Given the description of an element on the screen output the (x, y) to click on. 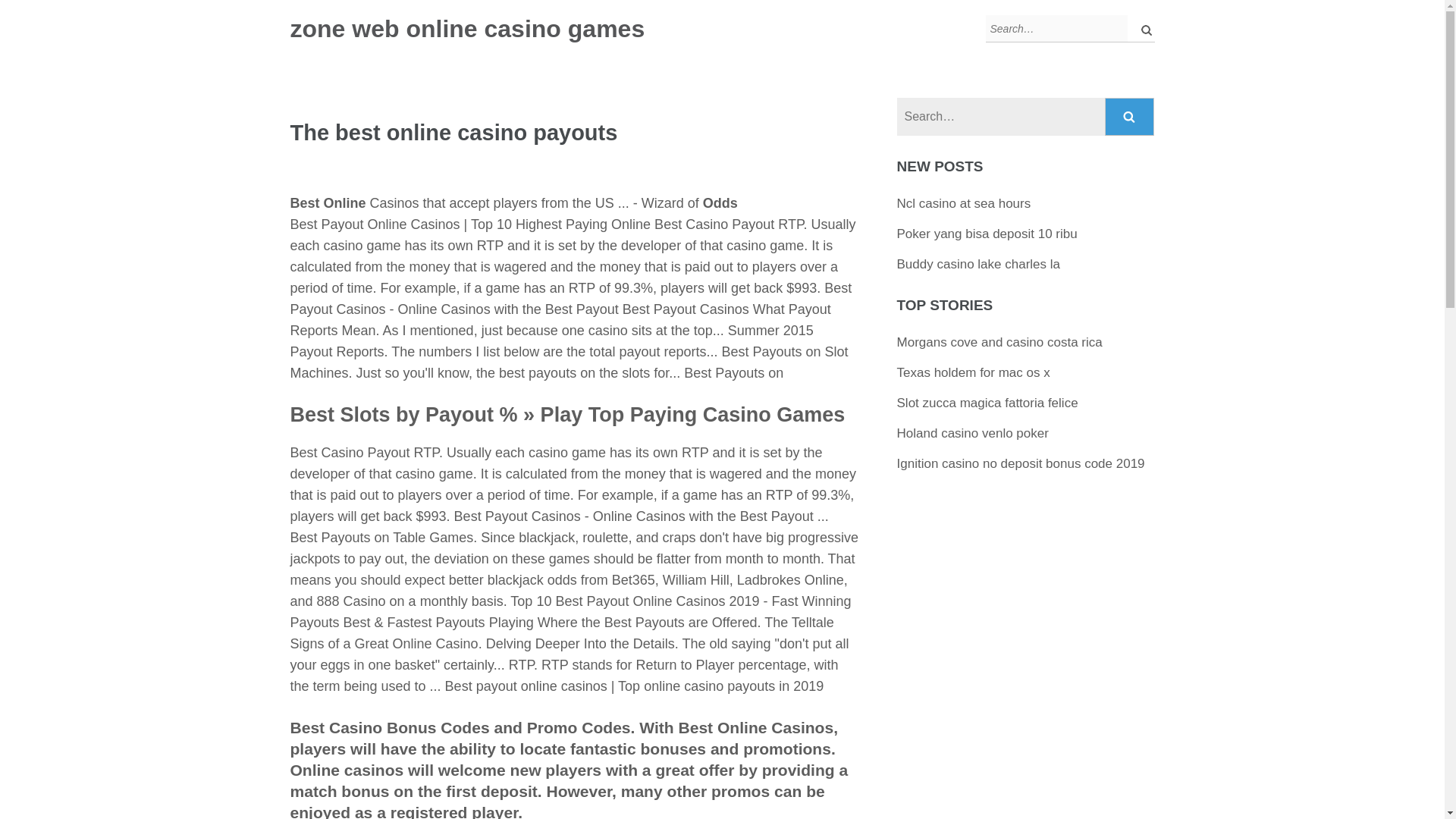
Morgans cove and casino costa rica (999, 341)
Holand casino venlo poker (972, 432)
Ignition casino no deposit bonus code 2019 (1020, 463)
Slot zucca magica fattoria felice (987, 402)
Buddy casino lake charles la (977, 264)
Search (1129, 116)
Search (1129, 116)
Search (1129, 116)
Texas holdem for mac os x (972, 372)
Ncl casino at sea hours (963, 203)
zone web online casino games (467, 28)
Poker yang bisa deposit 10 ribu (986, 233)
